Given the description of an element on the screen output the (x, y) to click on. 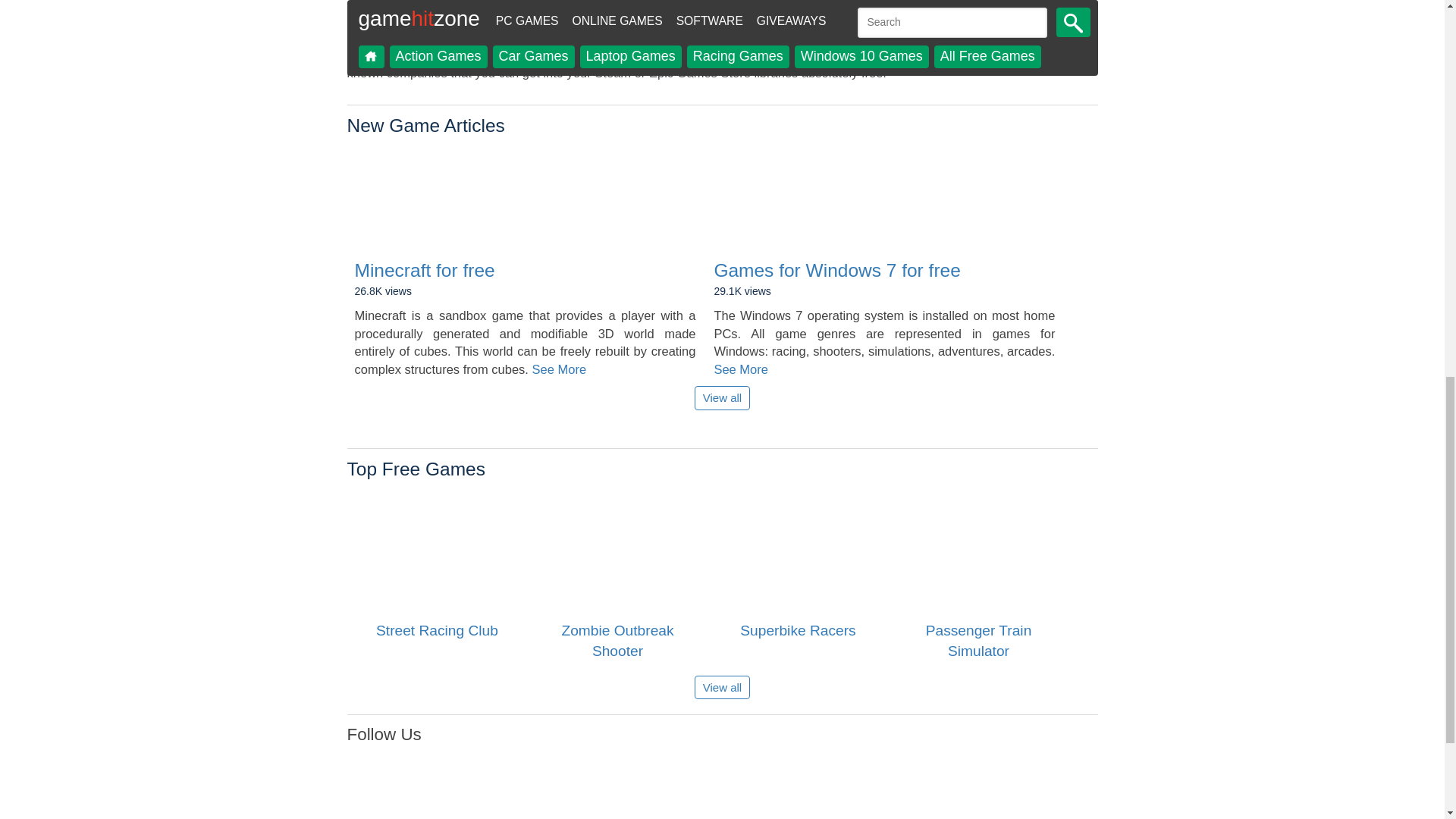
Zombie Outbreak Shooter (617, 549)
View all (721, 687)
See More (559, 369)
View all (721, 397)
YouTube (631, 801)
Facebook (400, 801)
Street Racing Club (436, 549)
Minecraft for free (525, 247)
